Given the description of an element on the screen output the (x, y) to click on. 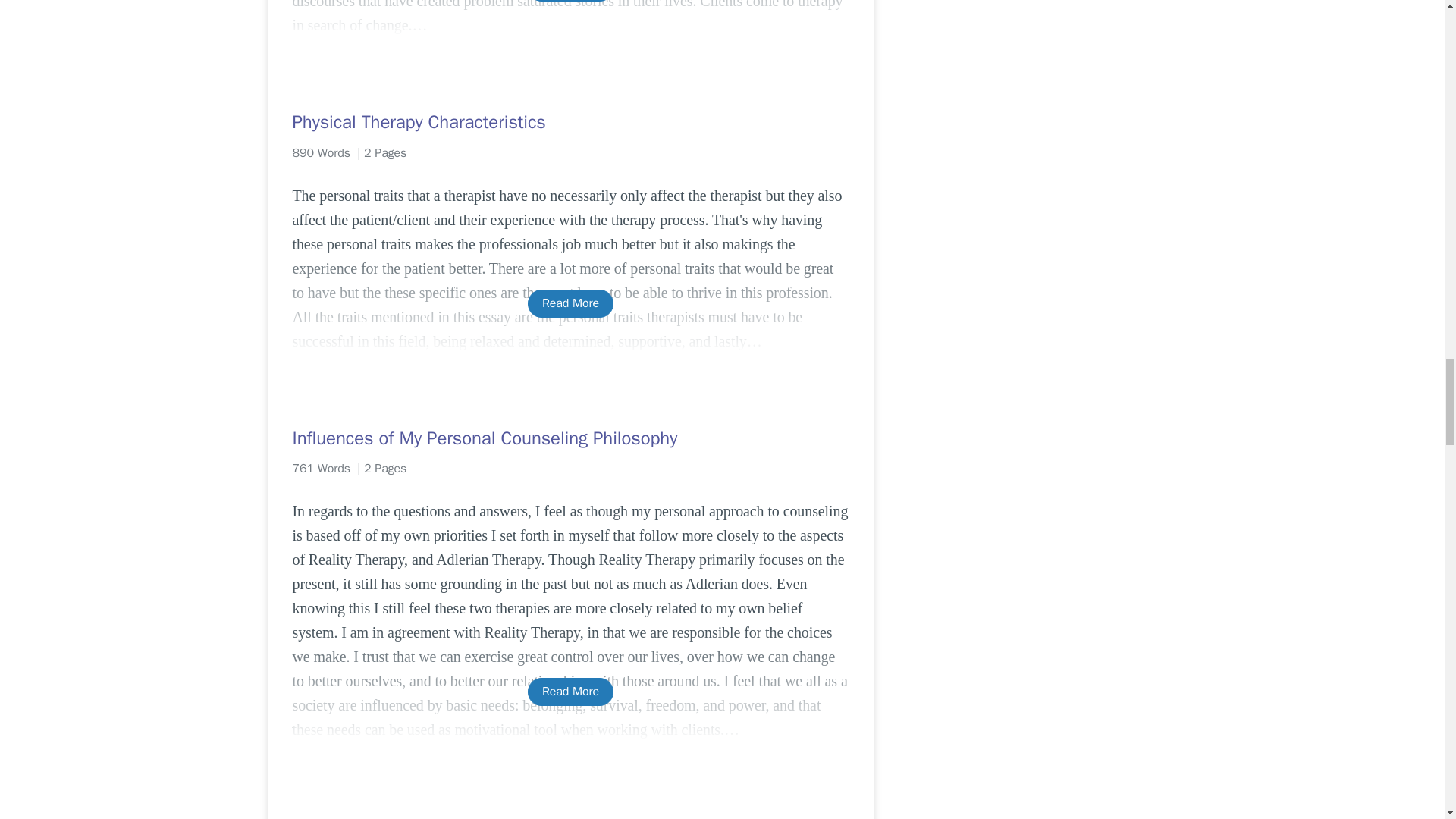
Read More (569, 691)
Read More (569, 303)
Physical Therapy Characteristics (570, 121)
Read More (569, 0)
Influences of My Personal Counseling Philosophy (570, 437)
